Given the description of an element on the screen output the (x, y) to click on. 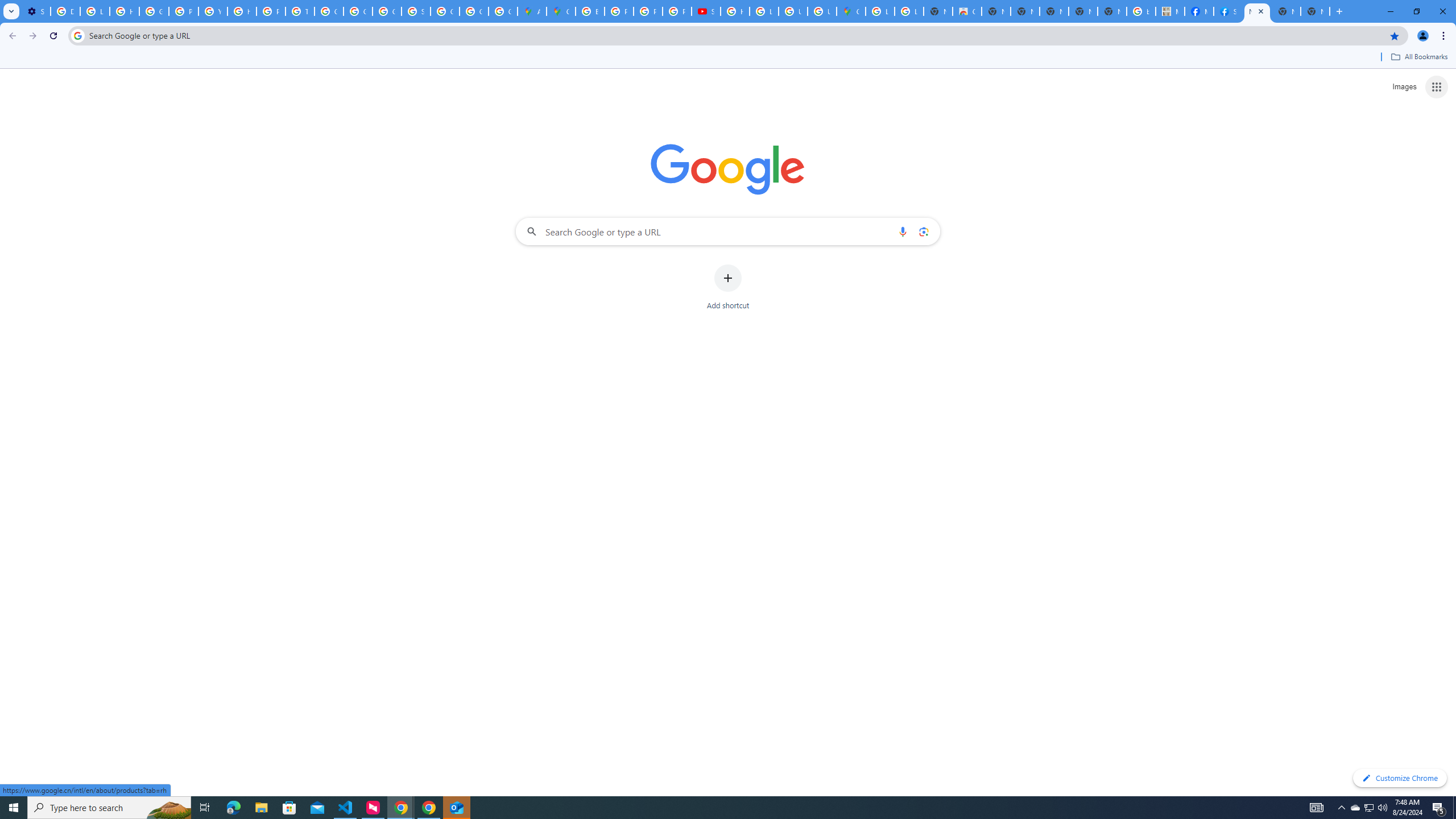
YouTube (212, 11)
